Given the description of an element on the screen output the (x, y) to click on. 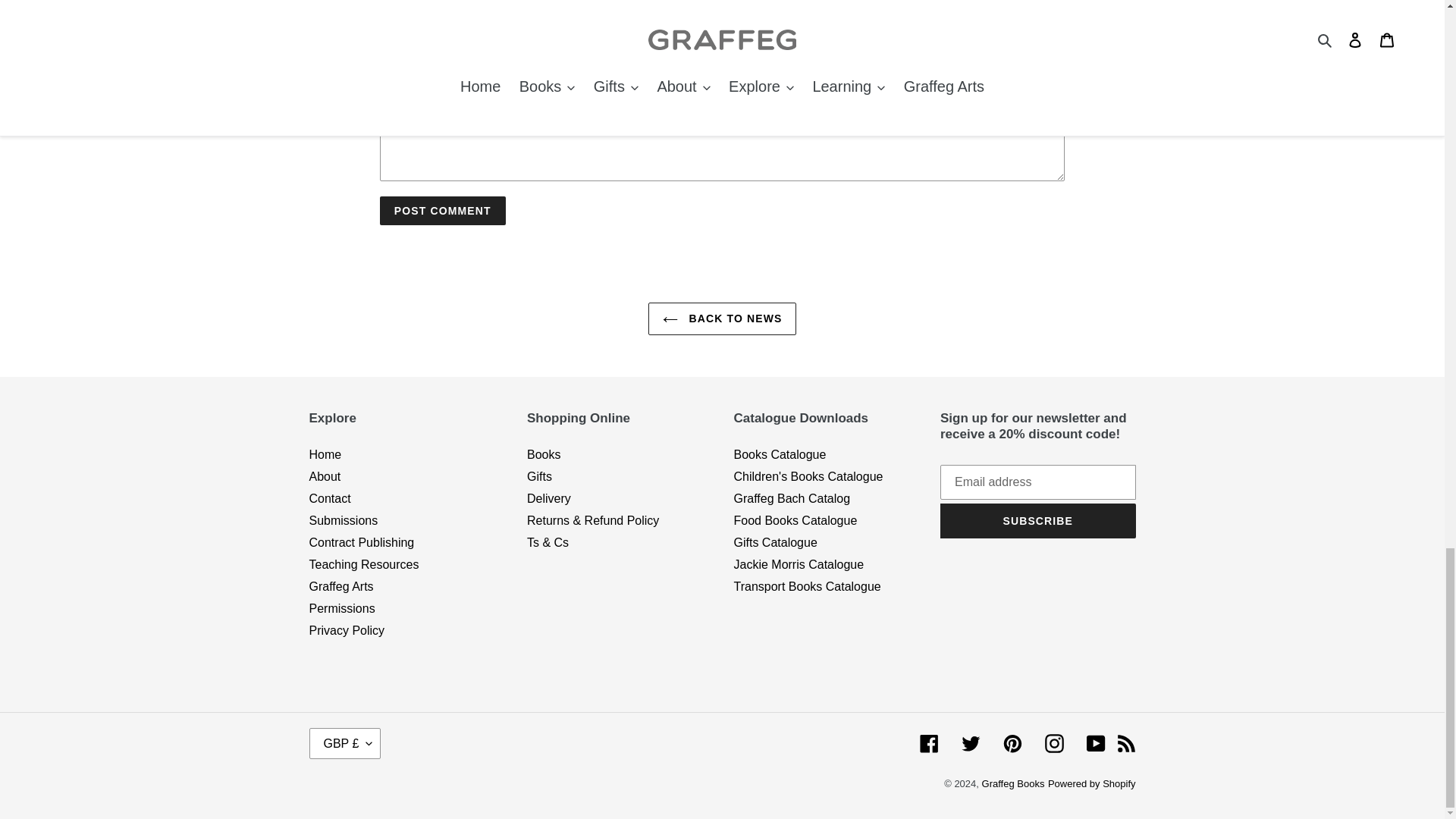
Post comment (442, 211)
